Given the description of an element on the screen output the (x, y) to click on. 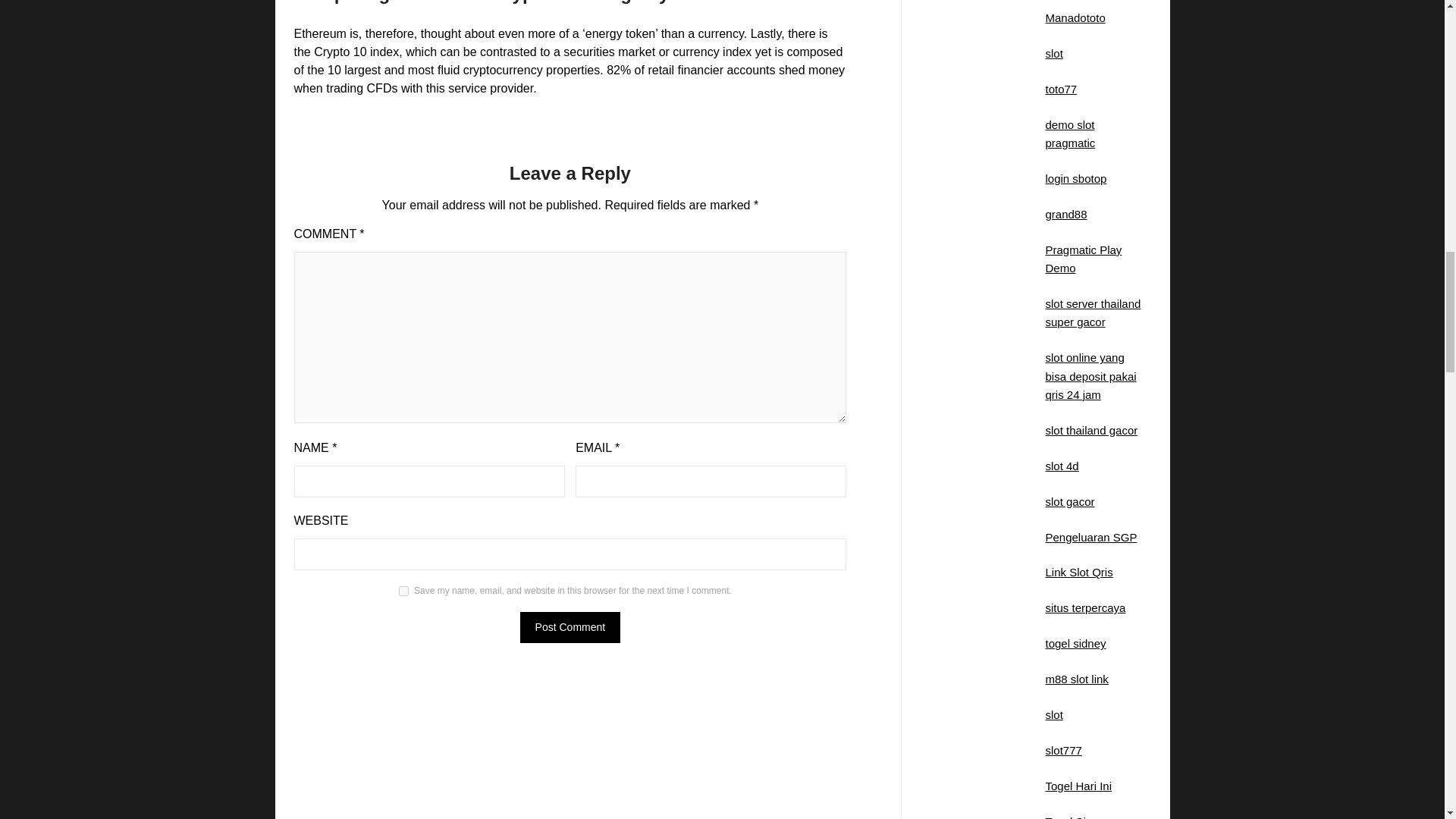
yes (403, 591)
Post Comment (570, 626)
Post Comment (570, 626)
